Given the description of an element on the screen output the (x, y) to click on. 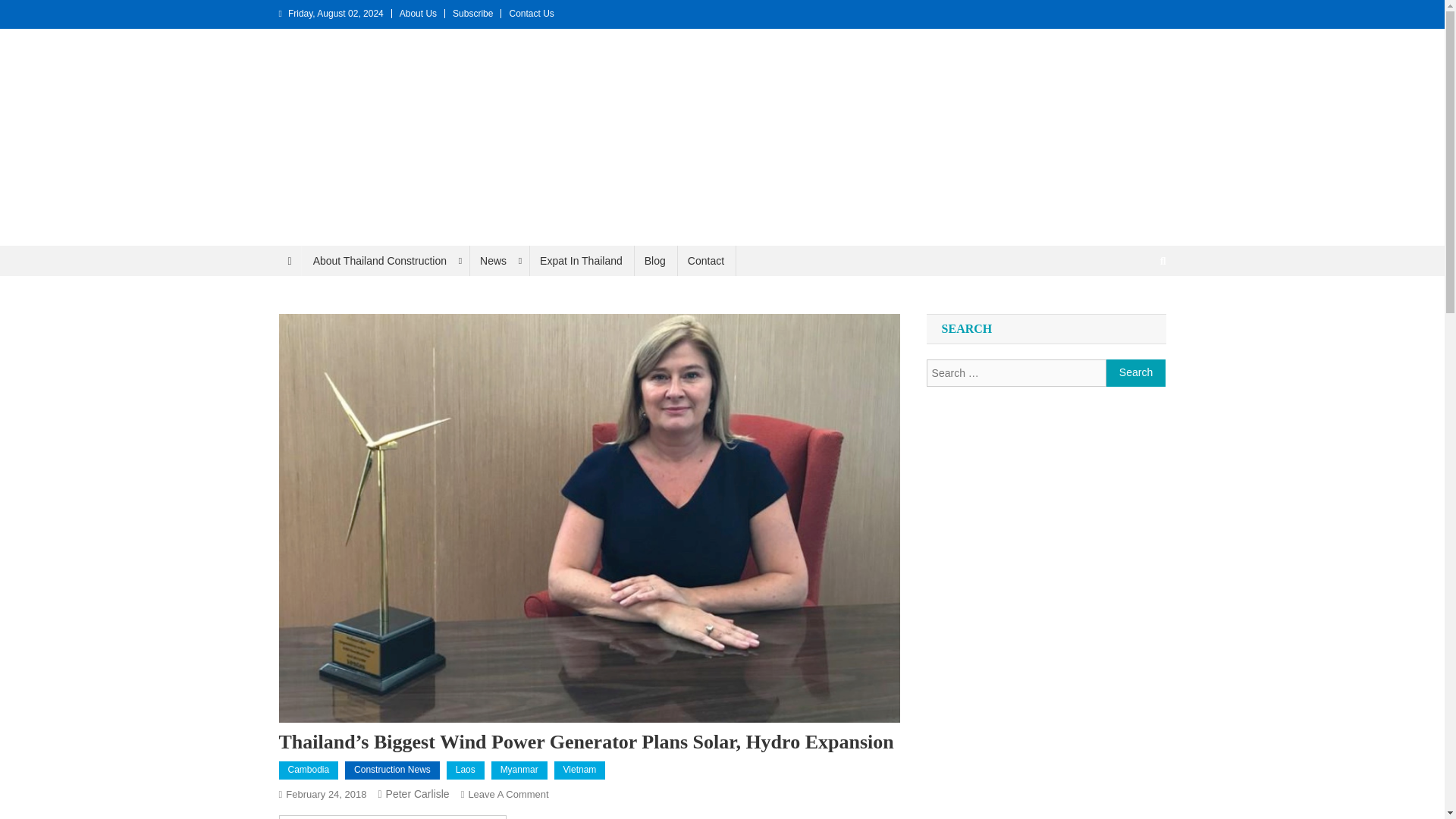
Contact (705, 260)
Cambodia (309, 770)
Thailand Construction and Engineering News (262, 260)
Blog (654, 260)
About Thailand Construction (385, 260)
Peter Carlisle (417, 793)
Search (1136, 372)
Search (1133, 311)
Construction News (392, 770)
Contact Us (530, 13)
About Us (417, 13)
News (498, 260)
February 24, 2018 (325, 794)
Subscribe (472, 13)
Search (1136, 372)
